Given the description of an element on the screen output the (x, y) to click on. 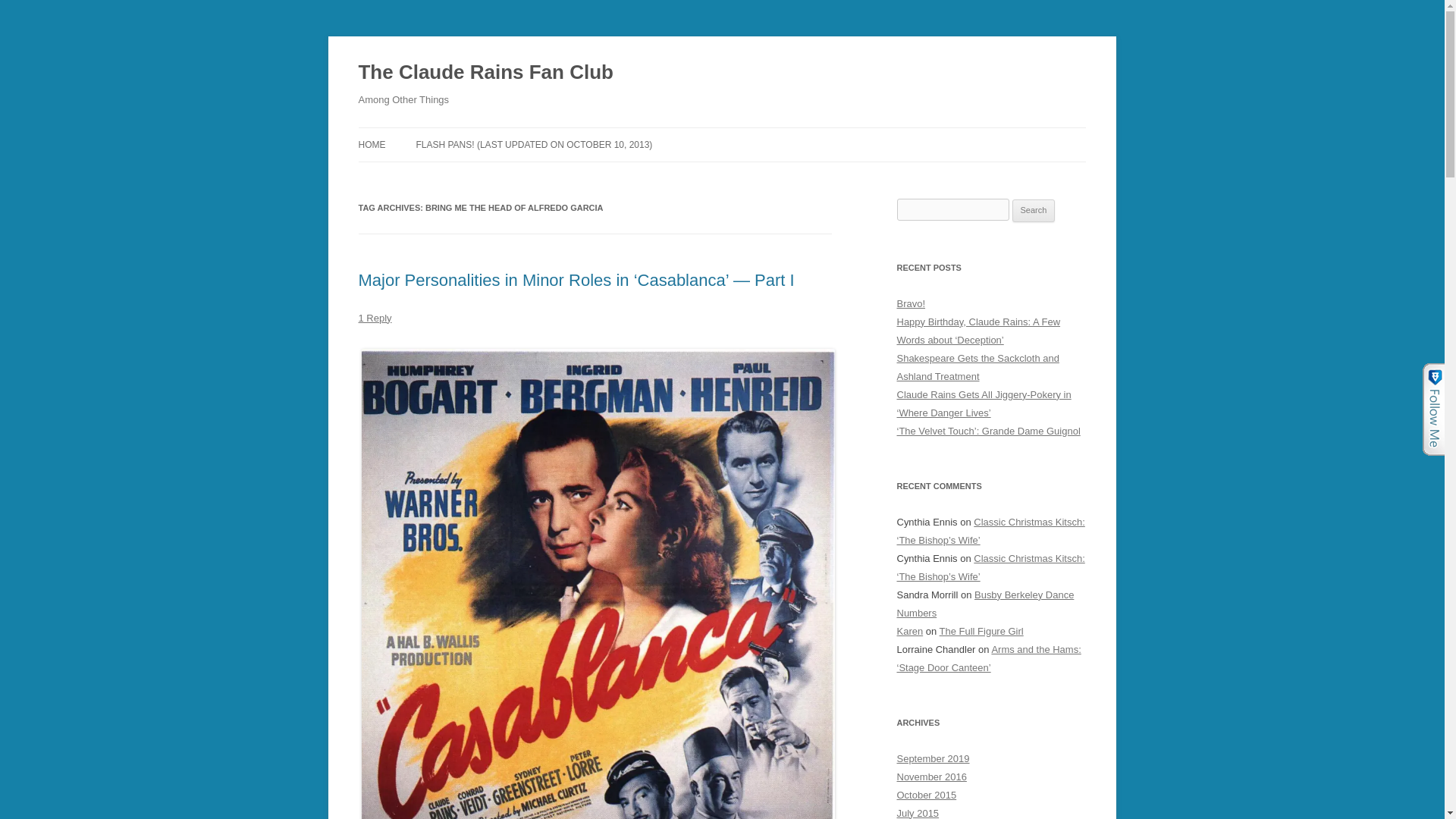
Bravo! (910, 303)
Search (1033, 210)
Skip to content (757, 132)
The Claude Rains Fan Club (485, 72)
1 Reply (374, 317)
Search (1033, 210)
The Claude Rains Fan Club (485, 72)
Skip to content (757, 132)
